Given the description of an element on the screen output the (x, y) to click on. 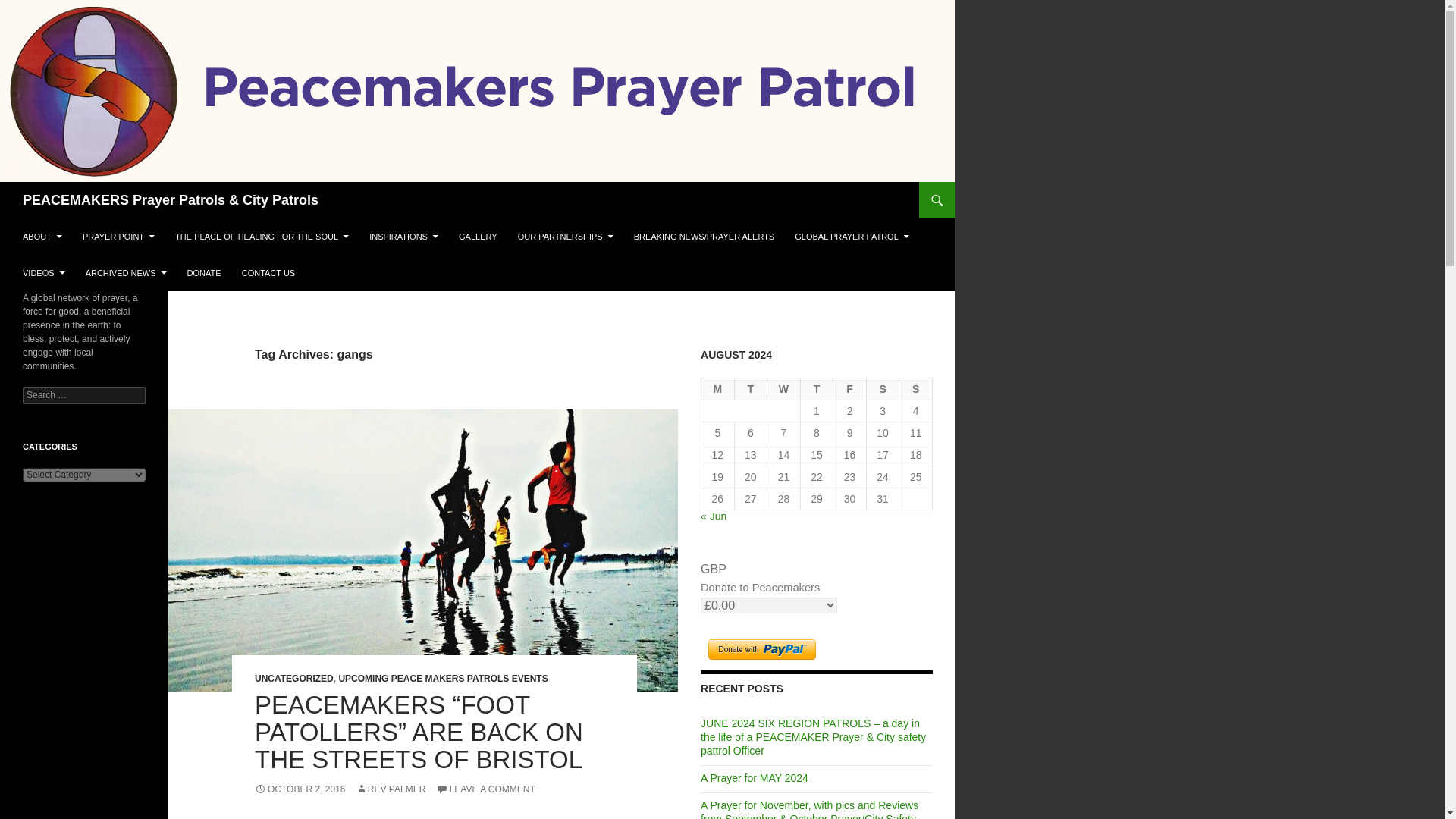
Tuesday (751, 389)
GALLERY (477, 236)
Wednesday (783, 389)
Friday (849, 389)
INSPIRATIONS (402, 236)
ABOUT (42, 236)
Sunday (916, 389)
Saturday (882, 389)
Thursday (817, 389)
THE PLACE OF HEALING FOR THE SOUL (261, 236)
PRAYER POINT (118, 236)
Monday (718, 389)
